Given the description of an element on the screen output the (x, y) to click on. 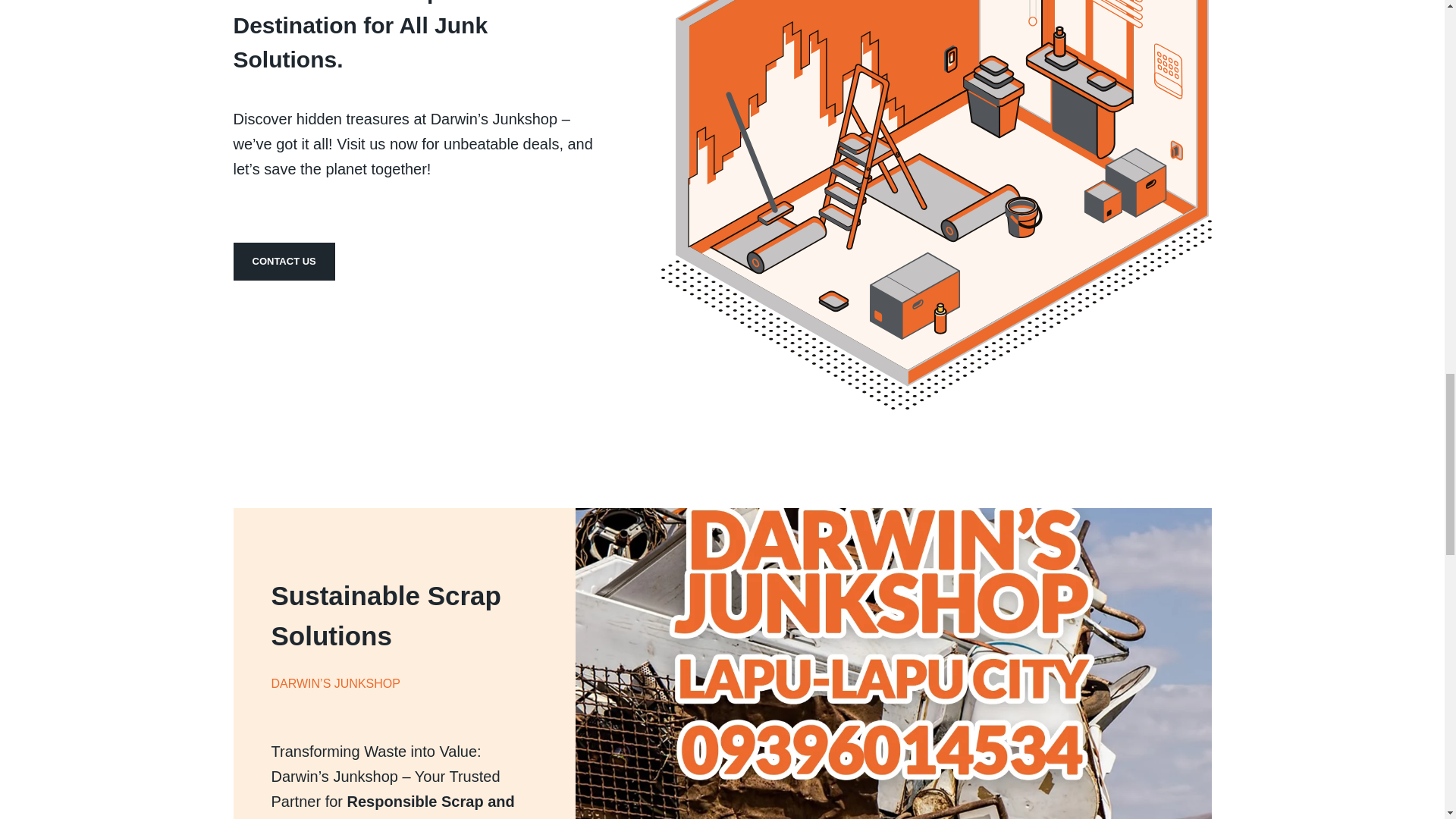
CONTACT US (283, 261)
